Given the description of an element on the screen output the (x, y) to click on. 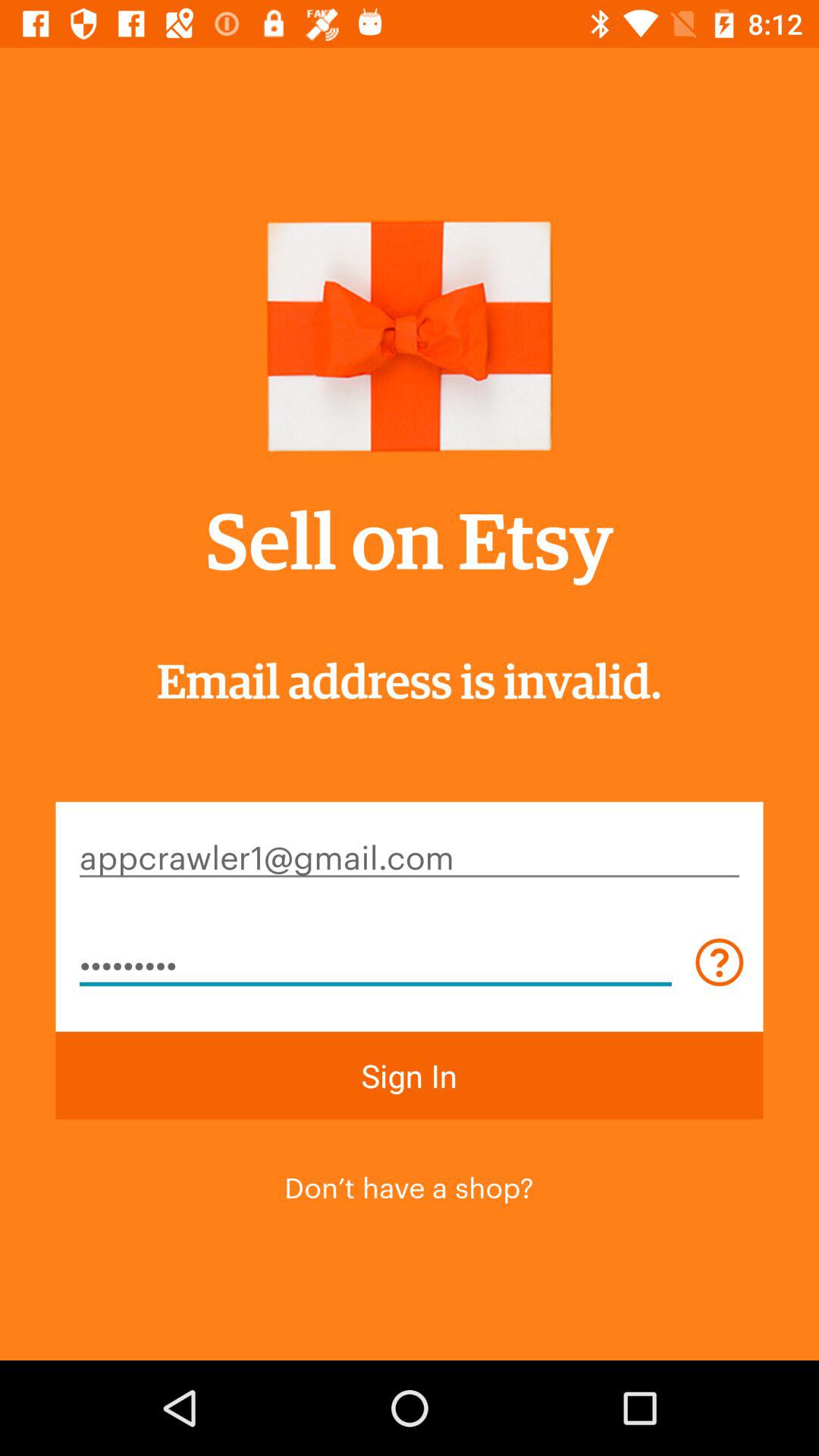
select the crowd3116 (375, 961)
